Given the description of an element on the screen output the (x, y) to click on. 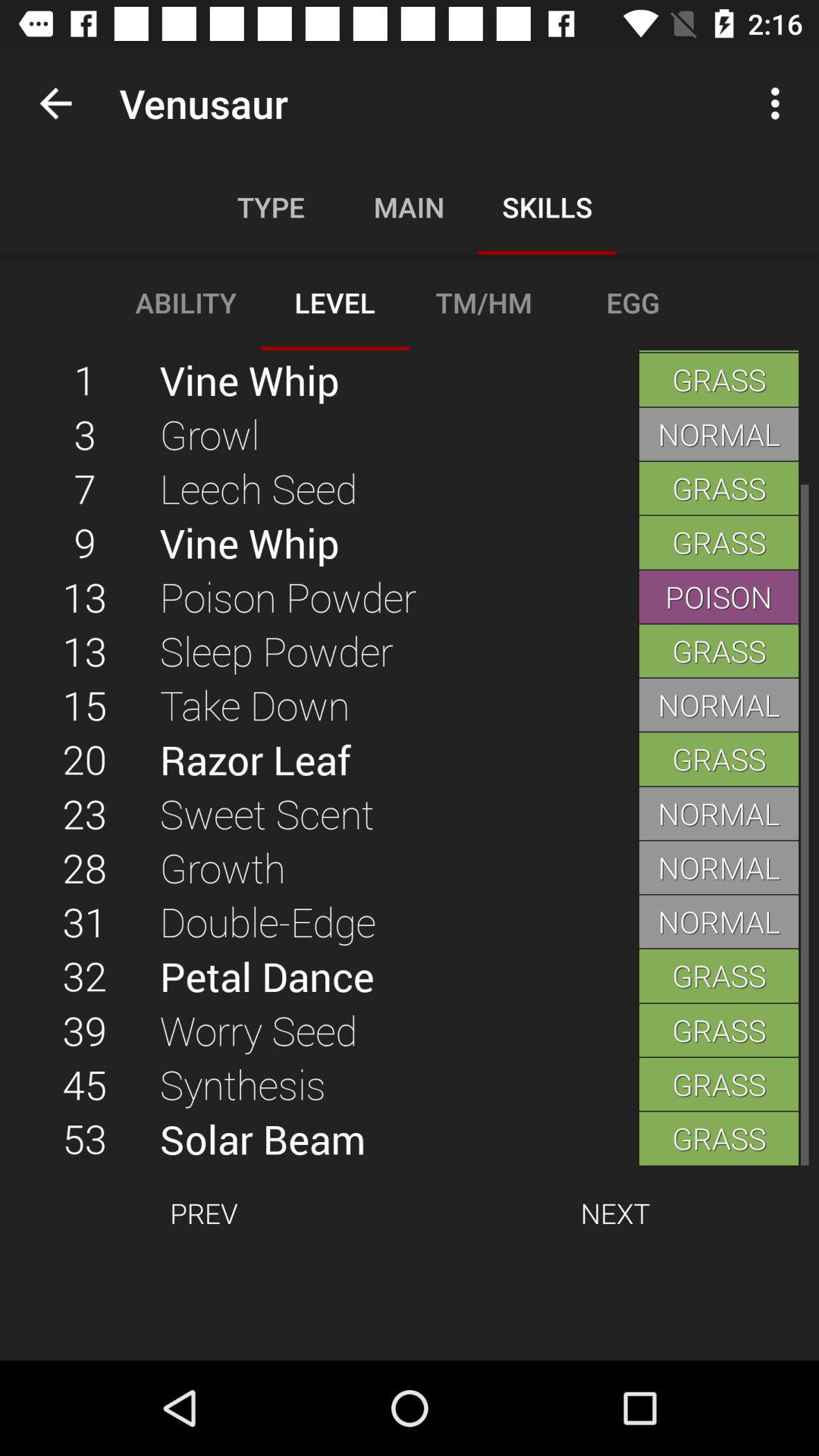
open 23 item (84, 813)
